Given the description of an element on the screen output the (x, y) to click on. 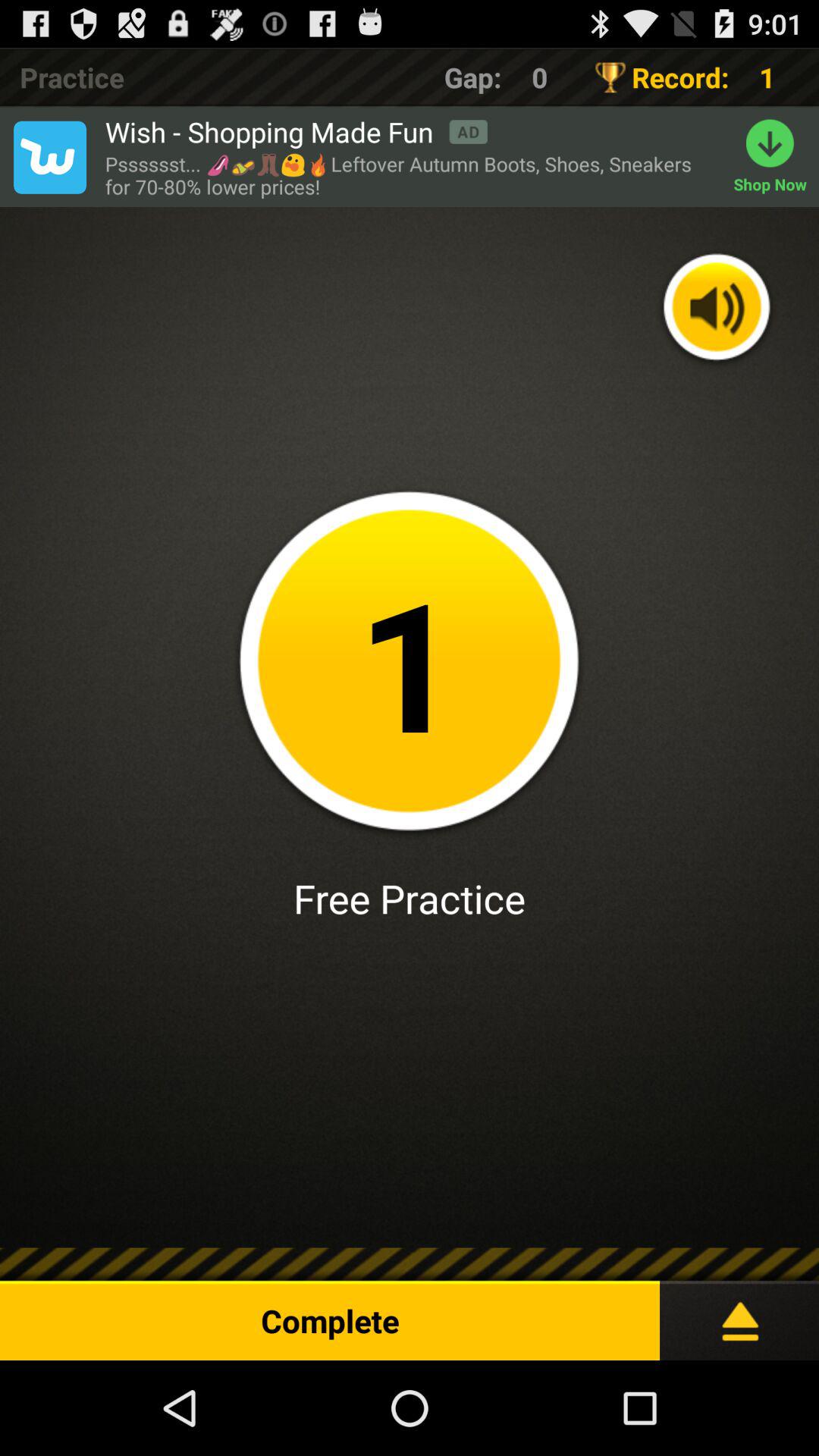
advertisement about wish (49, 156)
